Given the description of an element on the screen output the (x, y) to click on. 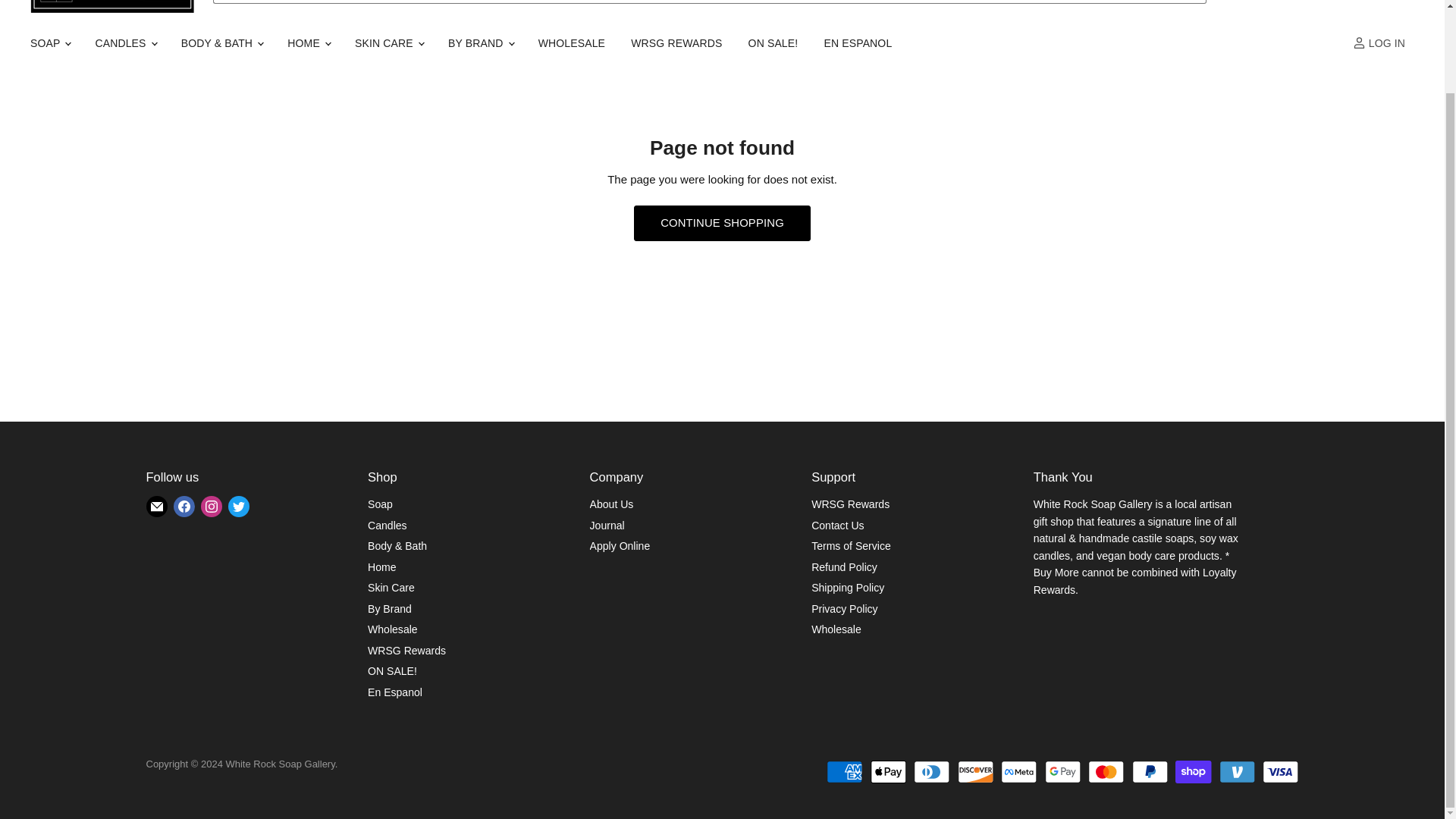
Instagram (210, 506)
Facebook (183, 506)
ACCOUNT ICON (1358, 42)
Twitter (237, 506)
View cart (1406, 2)
SOAP (49, 42)
E-mail (156, 506)
CANDLES (123, 42)
